Given the description of an element on the screen output the (x, y) to click on. 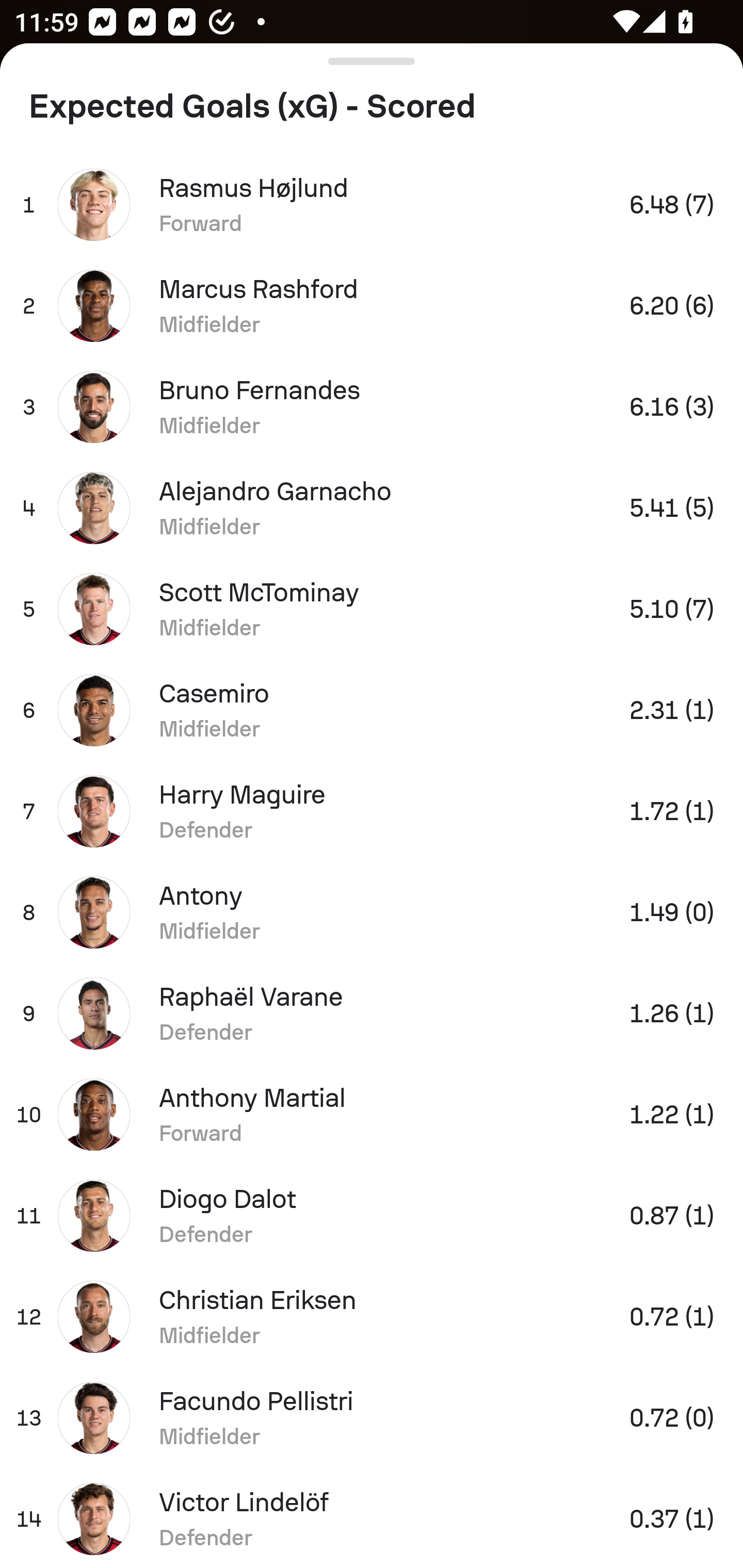
1 Rasmus Højlund Forward 6.48 (7) (371, 204)
2 Marcus Rashford Midfielder 6.20 (6) (371, 305)
3 Bruno Fernandes Midfielder 6.16 (3) (371, 406)
4 Alejandro Garnacho Midfielder 5.41 (5) (371, 507)
5 Scott McTominay Midfielder 5.10 (7) (371, 609)
6 Casemiro Midfielder 2.31 (1) (371, 710)
7 Harry Maguire Defender 1.72 (1) (371, 811)
8 Antony Midfielder 1.49 (0) (371, 912)
9 Raphaël Varane Defender 1.26 (1) (371, 1013)
10 Anthony Martial Forward 1.22 (1) (371, 1114)
11 Diogo Dalot Defender 0.87 (1) (371, 1215)
12 Christian Eriksen Midfielder 0.72 (1) (371, 1316)
13 Facundo Pellistri Midfielder 0.72 (0) (371, 1418)
14 Victor Lindelöf Defender 0.37 (1) (371, 1518)
